Given the description of an element on the screen output the (x, y) to click on. 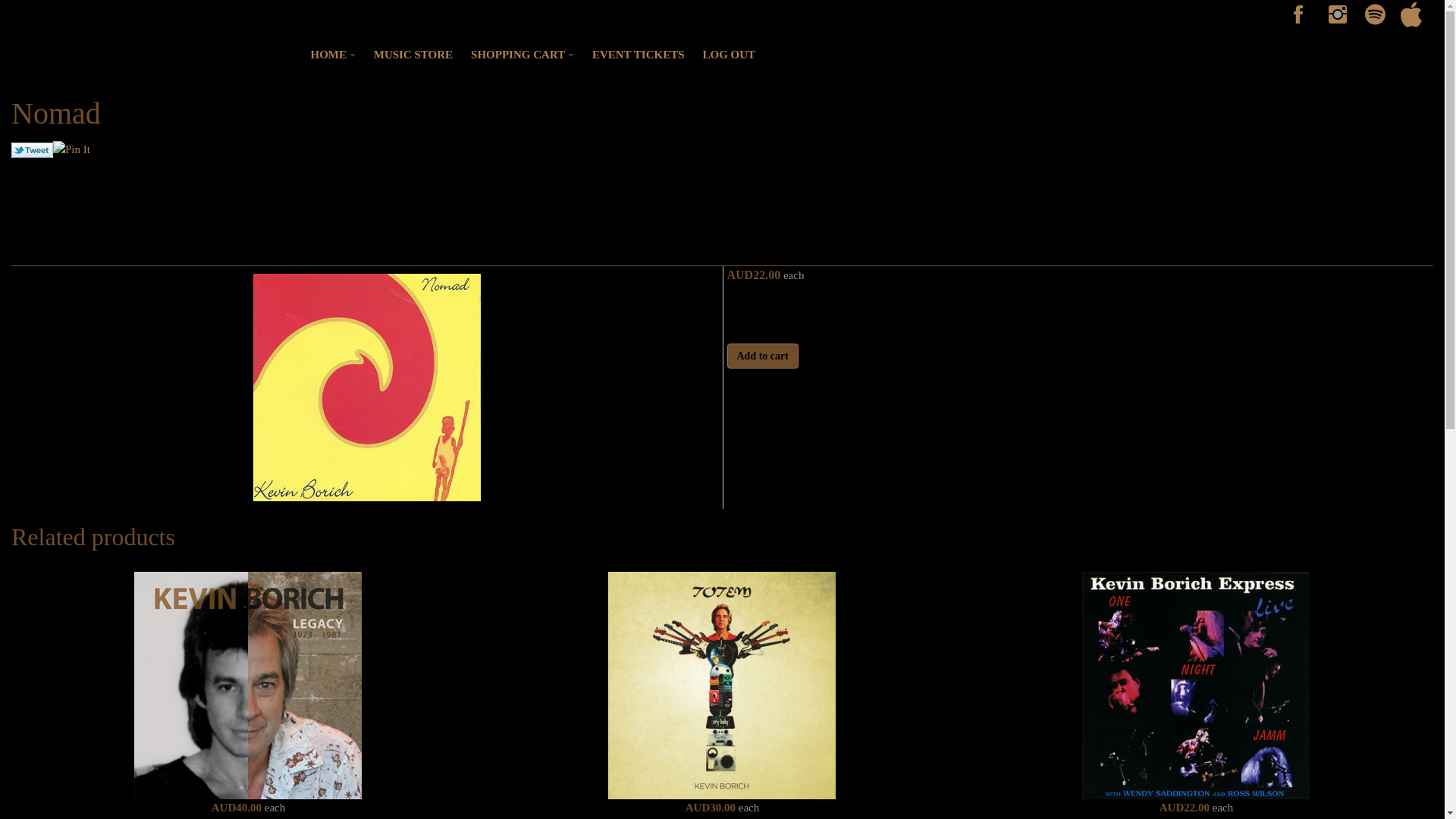
Pin It Element type: hover (71, 149)
SHOPPING CART Element type: text (522, 54)
LOG OUT Element type: text (729, 54)
Nomad Element type: hover (366, 386)
Totem - Groove Laden Double Album 2015 Element type: hover (721, 685)
One Night Jamm Element type: hover (1195, 685)
Kevin Borich - Legacy 2022 - Triple CD Set Element type: hover (247, 685)
MUSIC STORE Element type: text (412, 54)
Add to cart Element type: text (761, 356)
HOME Element type: text (332, 54)
Nomad Element type: hover (366, 387)
EVENT TICKETS Element type: text (638, 54)
